Given the description of an element on the screen output the (x, y) to click on. 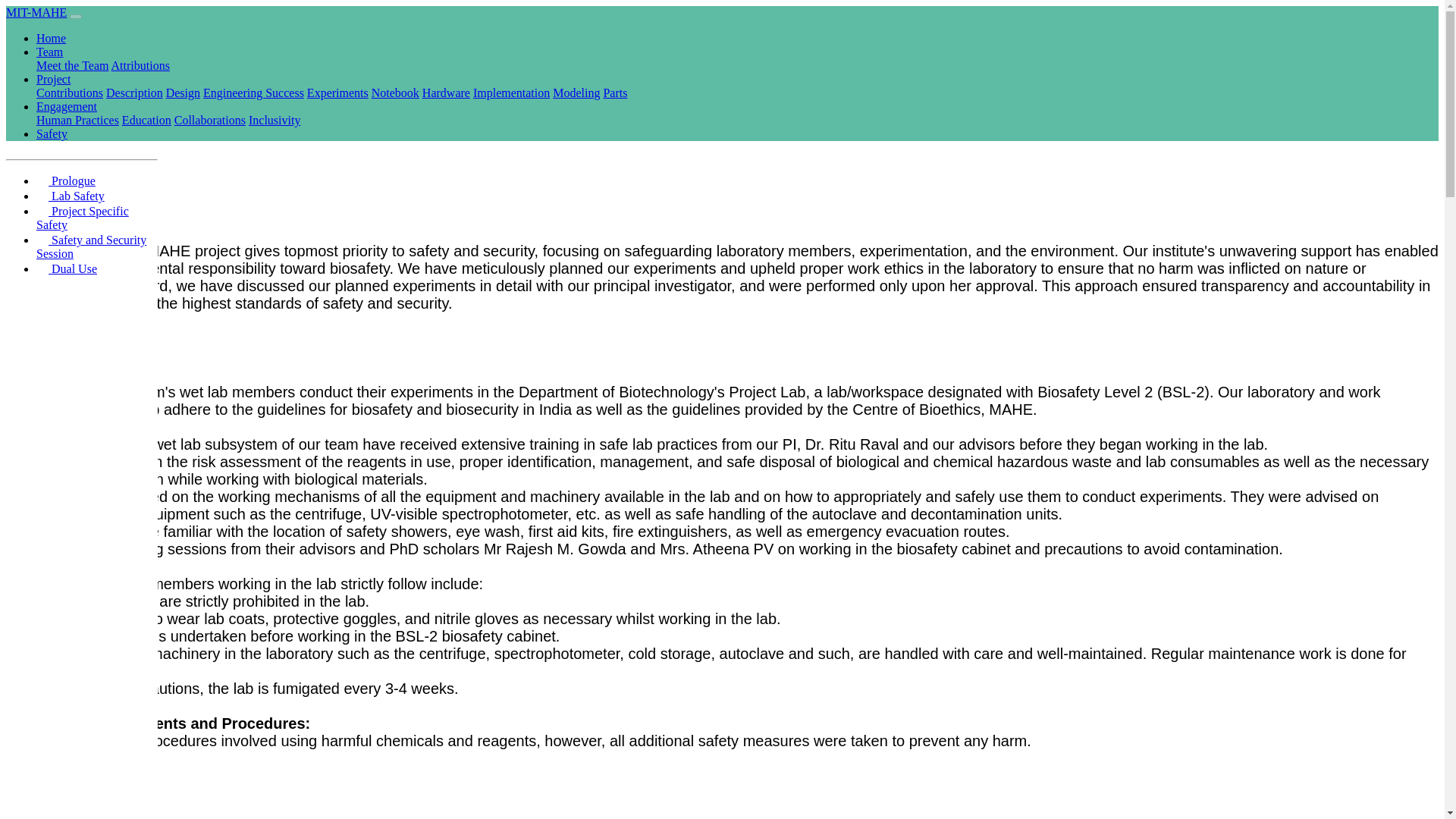
Home (101, 20)
Team (147, 20)
Safety and Security Session (90, 176)
Prologue (90, 58)
Dual Use (90, 215)
Project (202, 20)
MIT-MAHE (34, 20)
Safety (339, 20)
Project Specific Safety (90, 128)
Lab Safety (90, 88)
Engagement (274, 20)
